Given the description of an element on the screen output the (x, y) to click on. 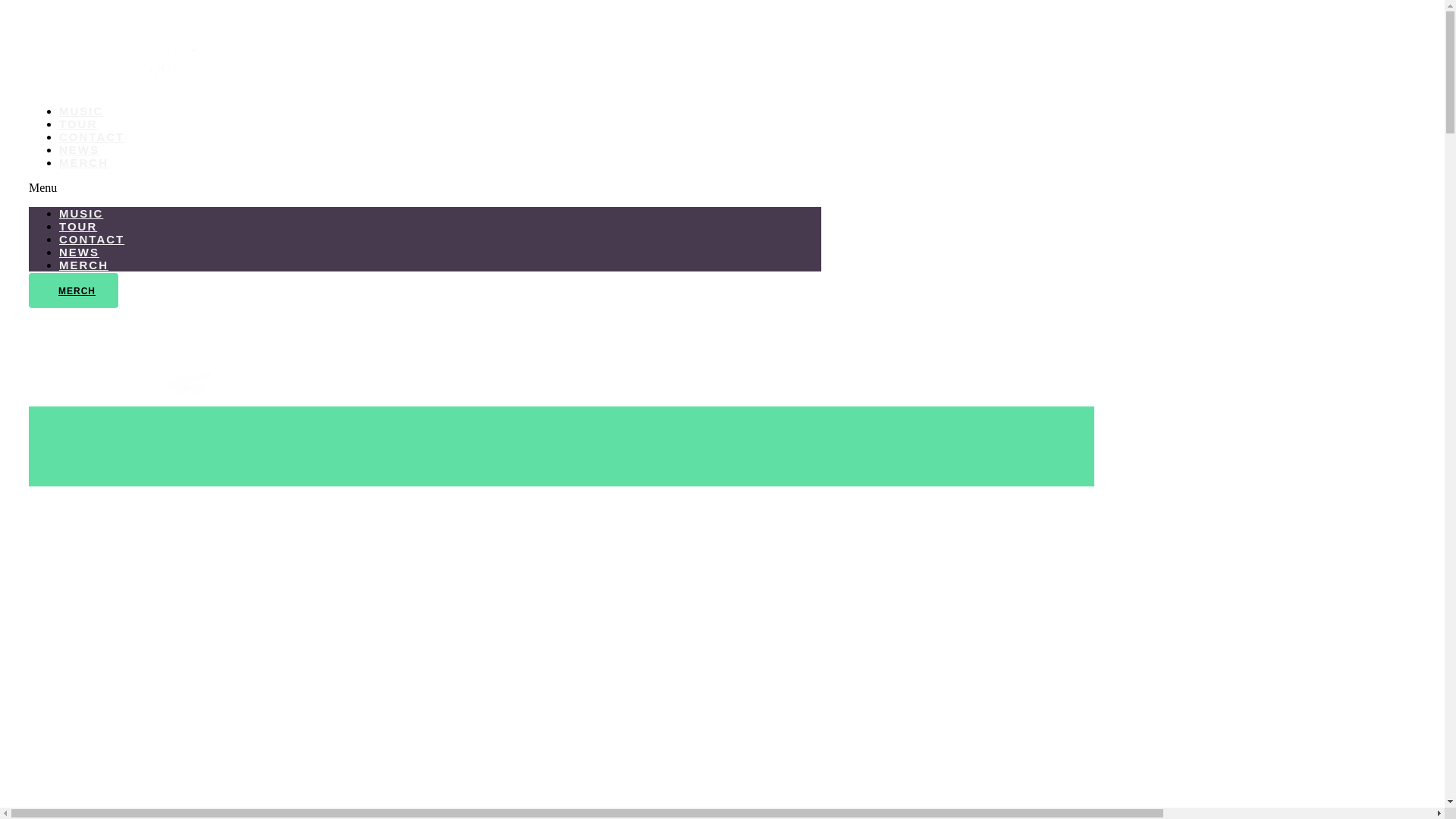
MERCH Element type: text (73, 290)
NEWS Element type: text (79, 251)
TOUR Element type: text (78, 225)
MERCH Element type: text (83, 264)
TOUR Element type: text (78, 123)
CONTACT Element type: text (91, 136)
CONTACT Element type: text (91, 238)
MUSIC Element type: text (81, 110)
NEWS Element type: text (79, 149)
MERCH Element type: text (83, 162)
MUSIC Element type: text (81, 213)
